Given the description of an element on the screen output the (x, y) to click on. 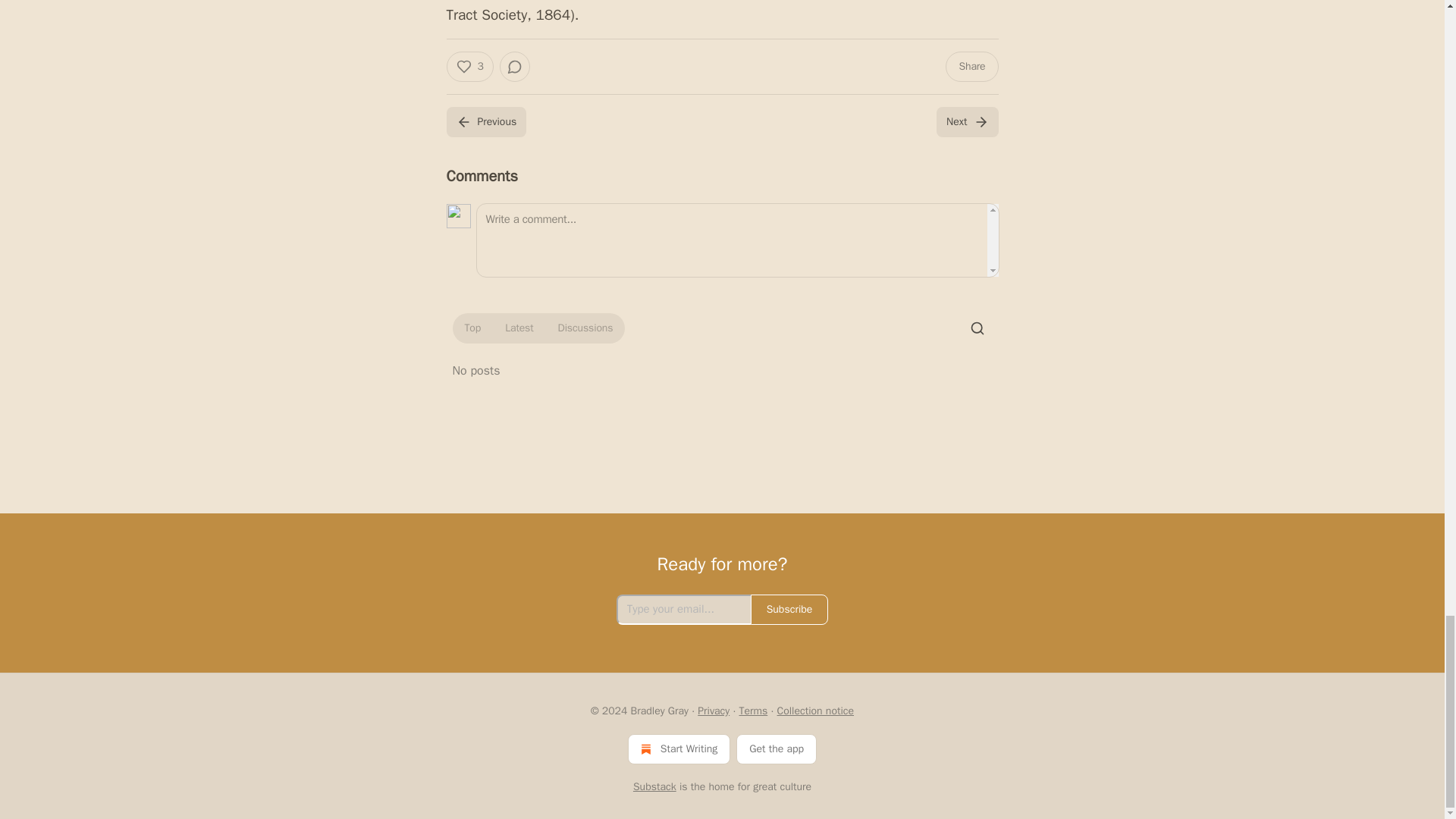
Share (970, 66)
Subscribe (789, 609)
3 (469, 66)
Previous (485, 122)
Top (471, 328)
Discussions (585, 328)
Latest (518, 328)
Next (966, 122)
